Given the description of an element on the screen output the (x, y) to click on. 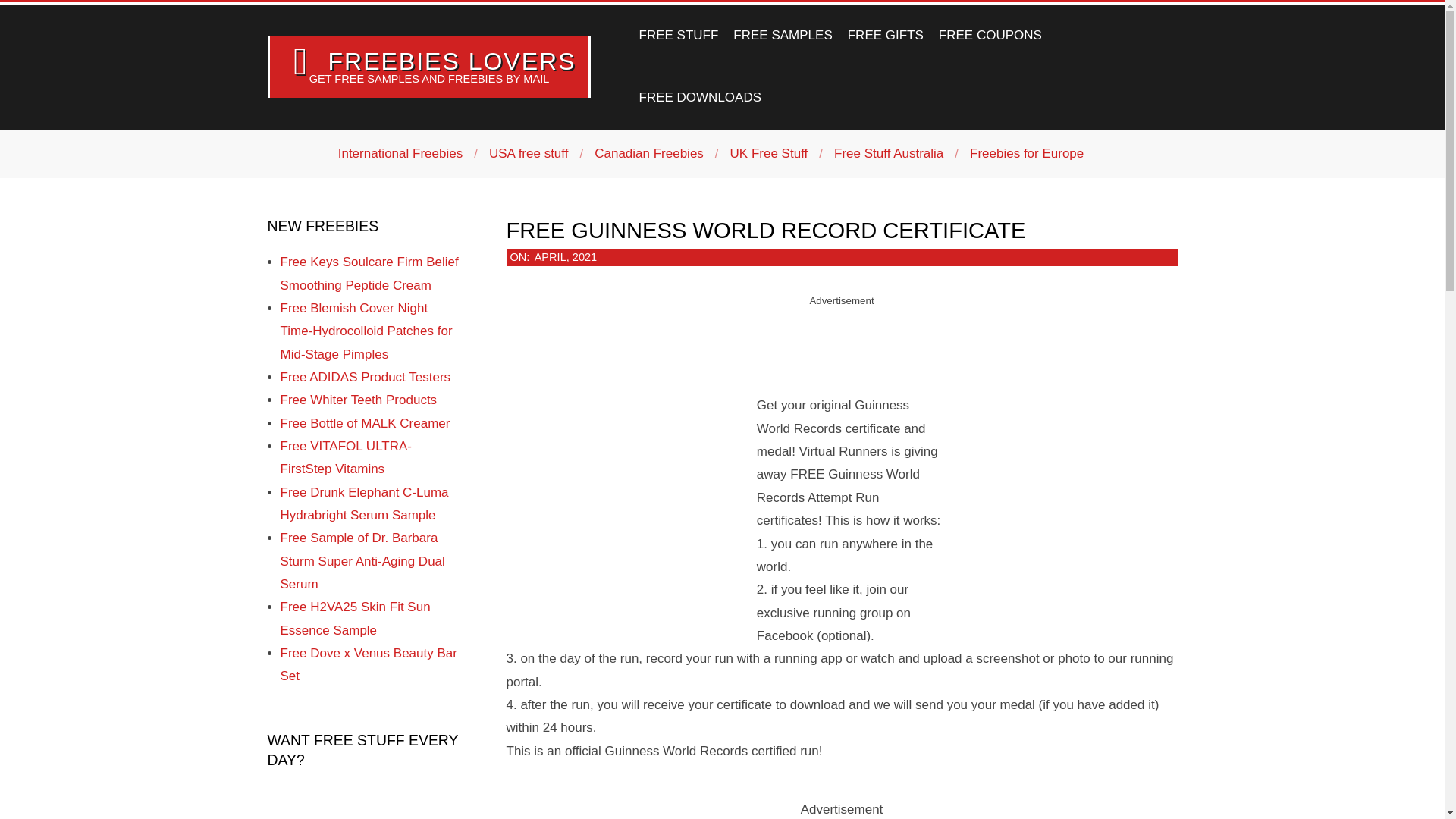
FREE COUPONS (990, 35)
Canadian Freebies (648, 153)
USA free stuff (529, 153)
Free VITAFOL ULTRA-FirstStep Vitamins (346, 456)
FREEBIES LOVERS (451, 61)
FREE SAMPLES (782, 35)
Free Stuff Australia (888, 153)
Saturday, April 3, 2021, 11:09 am (565, 256)
UK Free Stuff (769, 153)
